Given the description of an element on the screen output the (x, y) to click on. 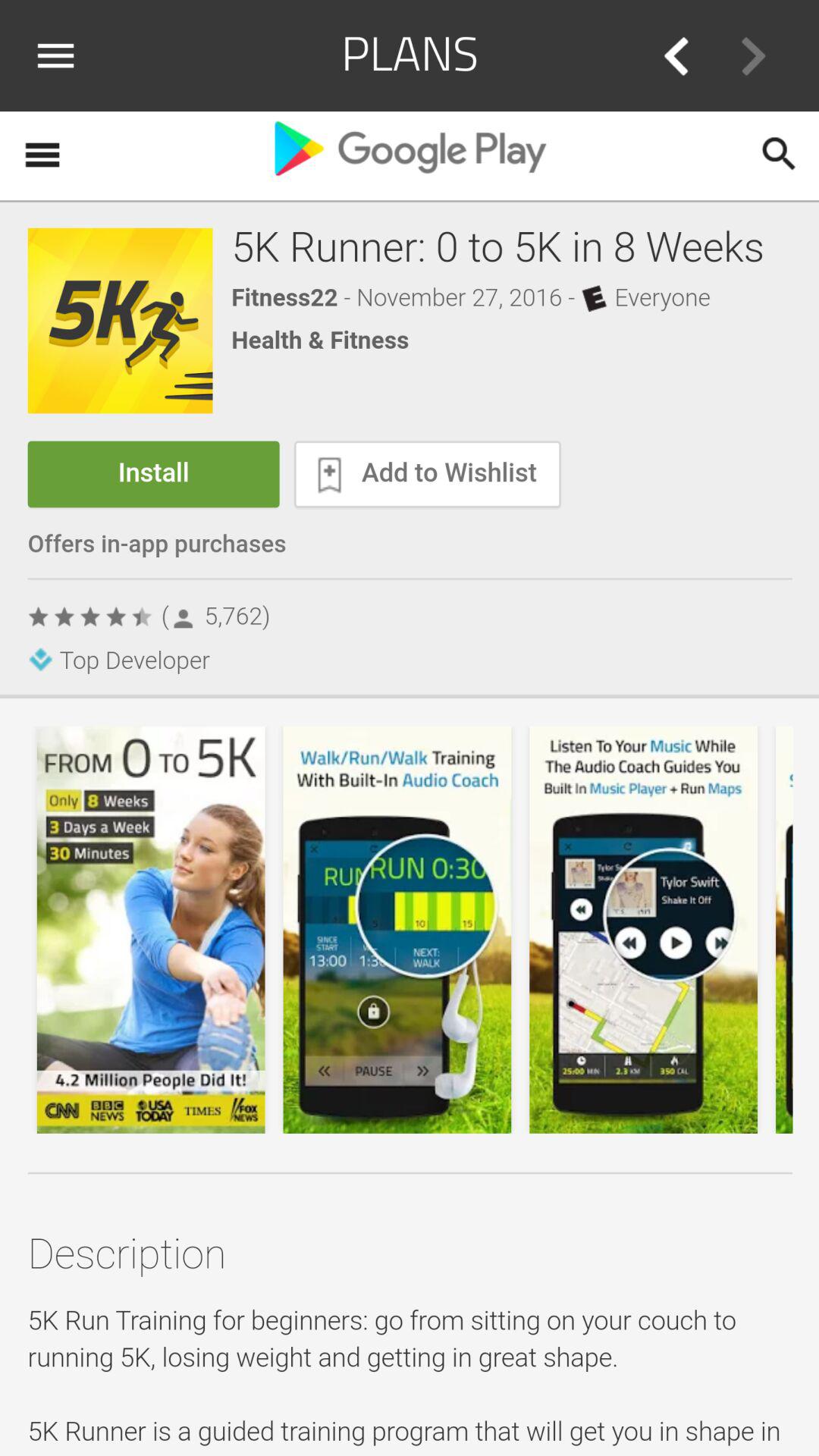
go forward (753, 55)
